Given the description of an element on the screen output the (x, y) to click on. 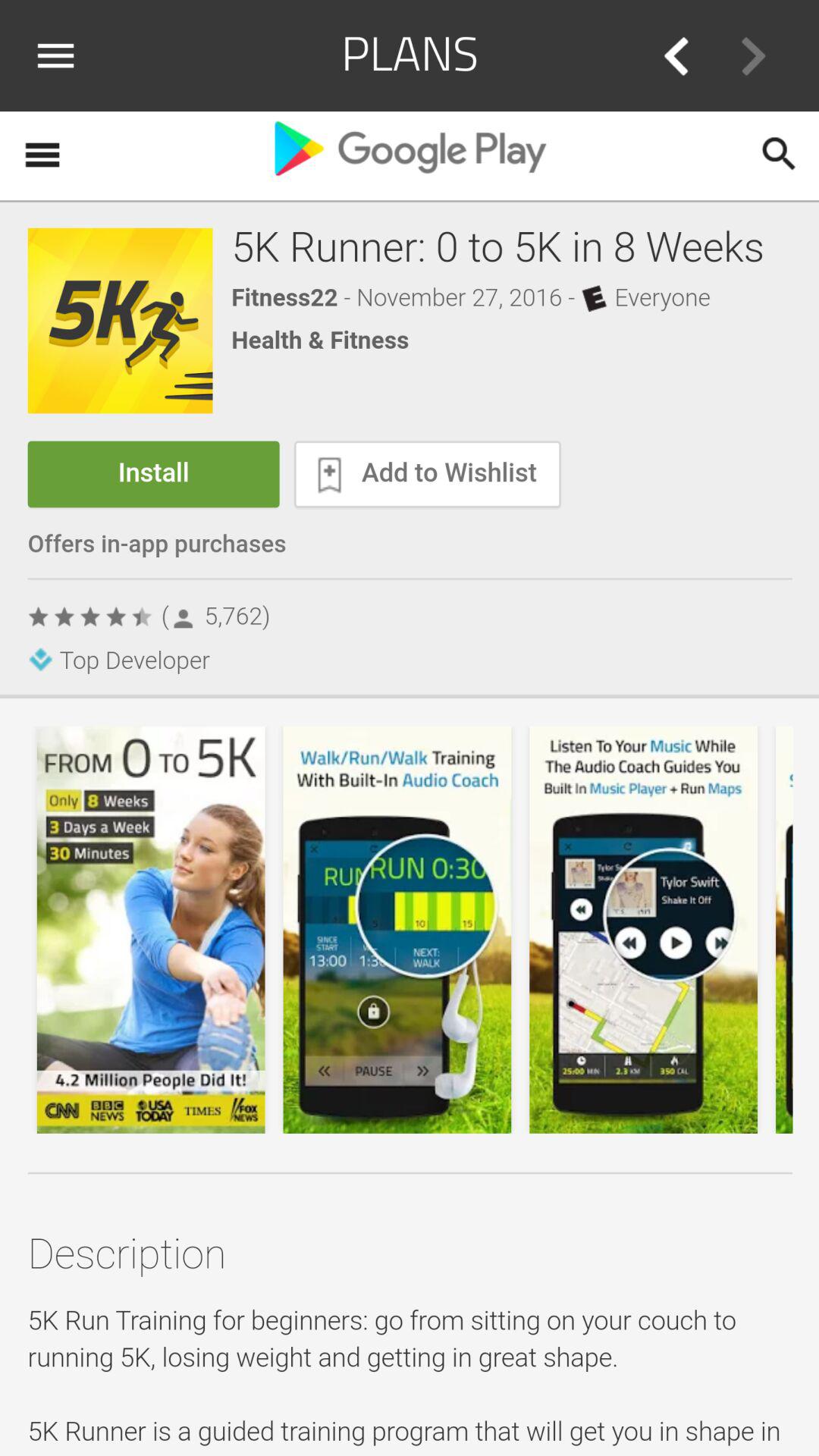
go forward (753, 55)
